Given the description of an element on the screen output the (x, y) to click on. 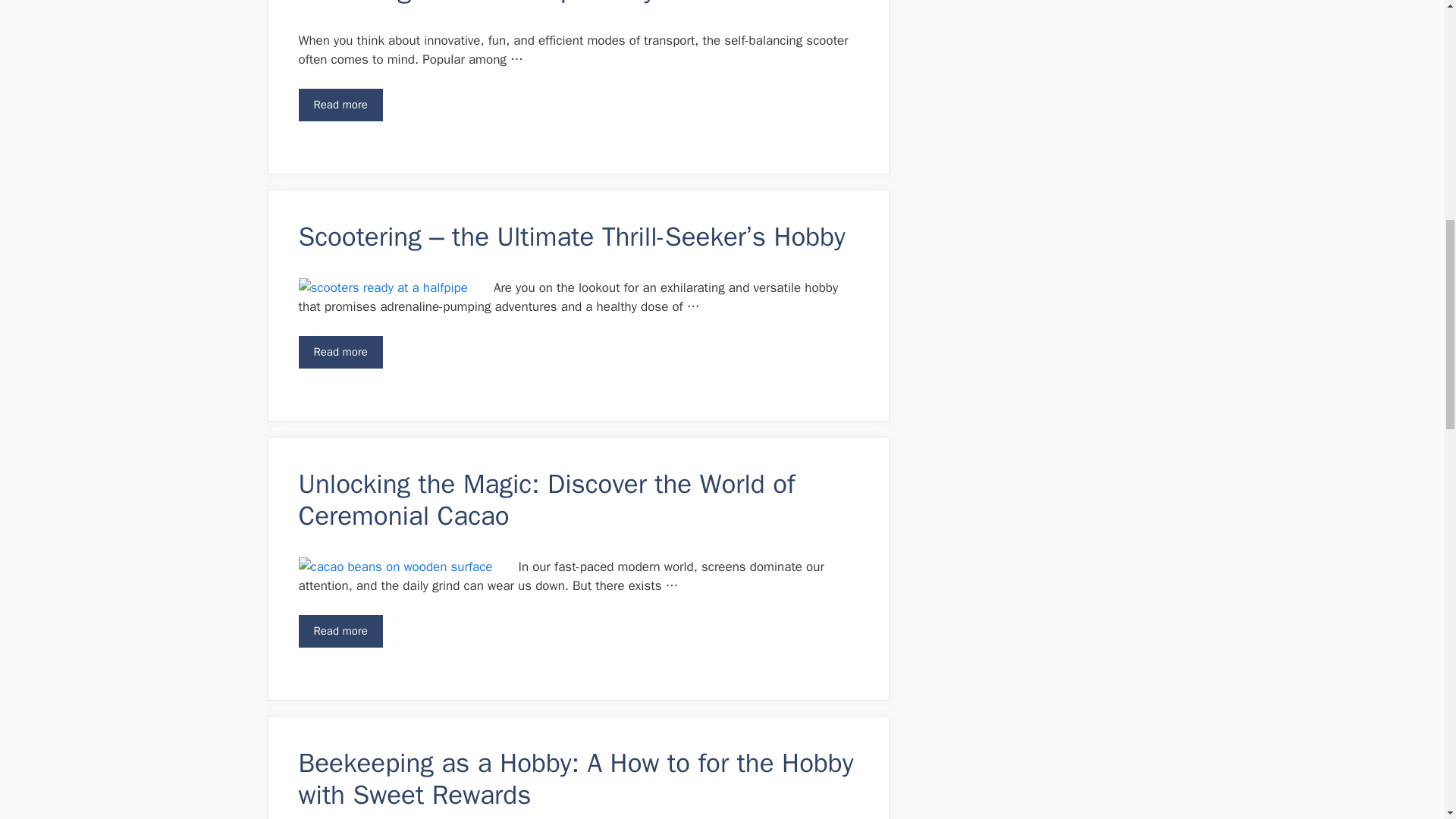
Read more (340, 351)
Read more (340, 631)
Unlocking the Magic: Discover the World of Ceremonial Cacao (546, 499)
Unlocking the Magic: Discover the World of Ceremonial Cacao (340, 631)
Read more (340, 104)
